Given the description of an element on the screen output the (x, y) to click on. 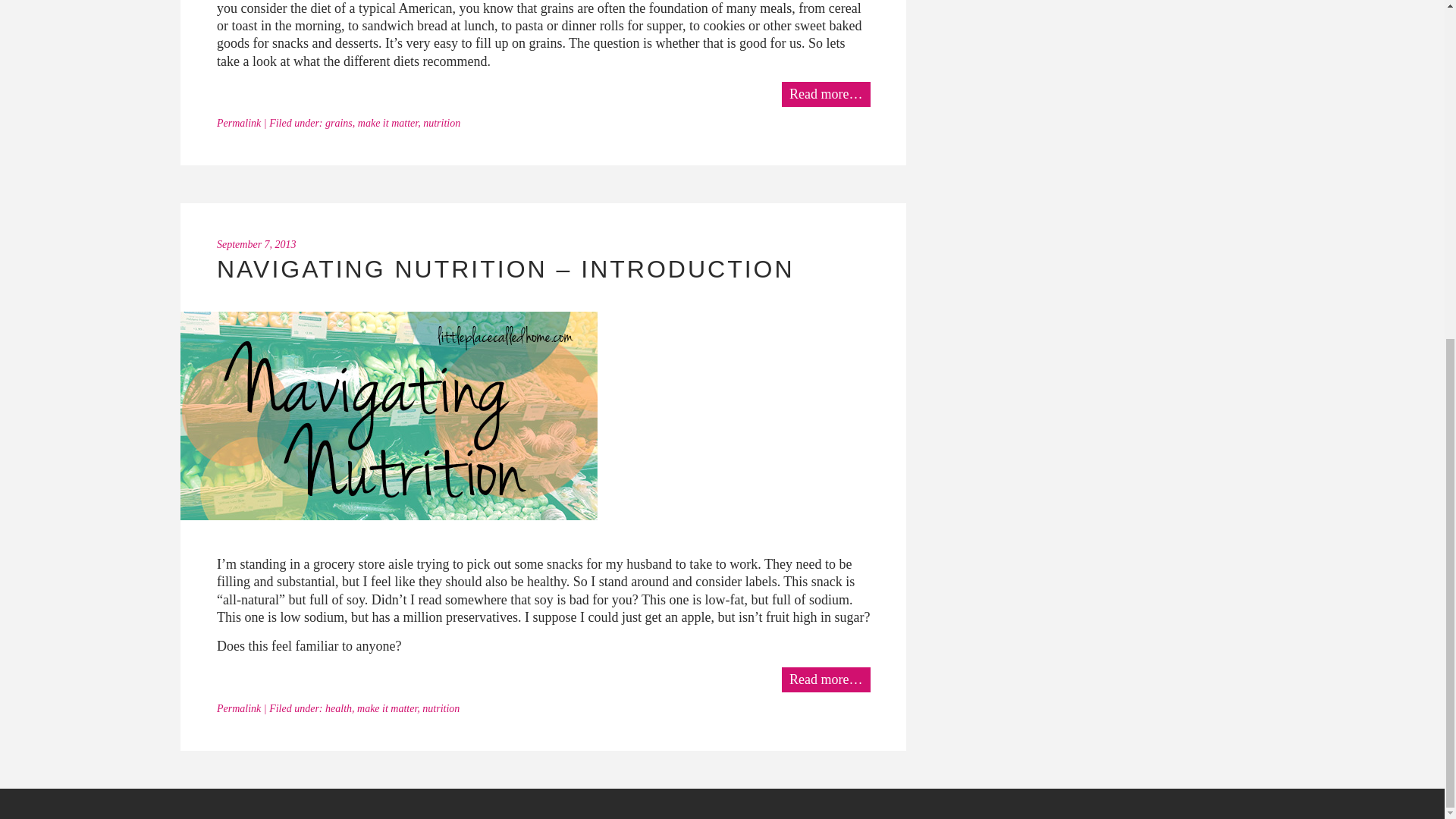
grains (338, 122)
health (338, 708)
nutrition (441, 708)
make it matter (387, 122)
September 7, 2013 (256, 244)
make it matter (386, 708)
Permalink (238, 122)
nutrition (441, 122)
Permalink (238, 708)
